Given the description of an element on the screen output the (x, y) to click on. 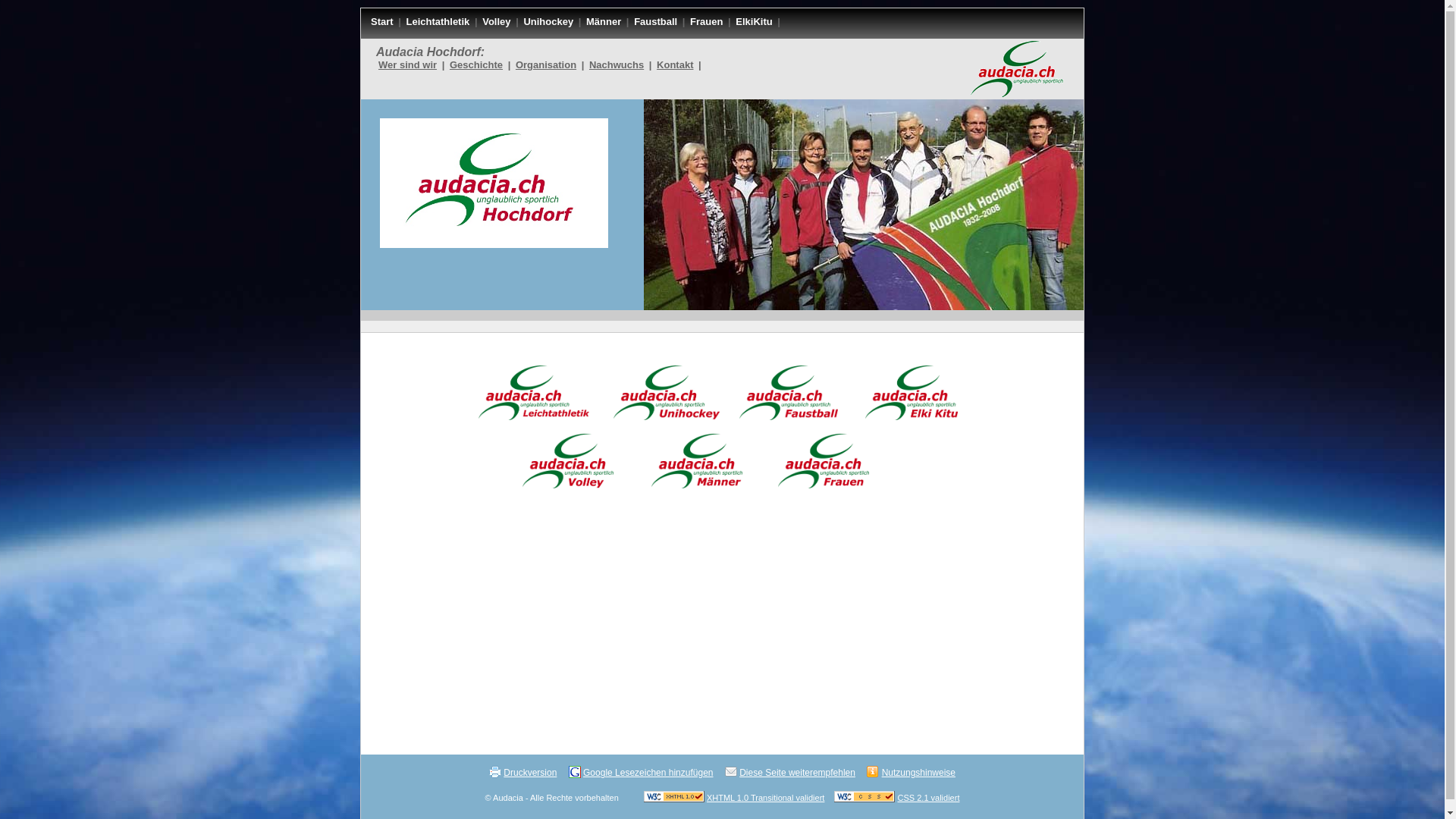
Wer sind wir Element type: text (407, 64)
XHTML 1.0 Transitional validiert Element type: text (765, 797)
Druckversion Element type: text (529, 772)
Frauen Element type: text (705, 21)
Volley Element type: text (496, 21)
Leichtathletik Element type: text (437, 21)
Diese Seite weiterempfehlen Element type: text (797, 772)
Nachwuchs Element type: text (616, 64)
Nutzungshinweise Element type: text (918, 772)
Faustball Element type: text (655, 21)
Unihockey Element type: text (547, 21)
Start Element type: text (381, 21)
ElkiKitu Element type: text (753, 21)
CSS 2.1 validiert Element type: text (928, 797)
Geschichte Element type: text (476, 64)
Organisation Element type: text (545, 64)
Kontakt Element type: text (674, 64)
